Given the description of an element on the screen output the (x, y) to click on. 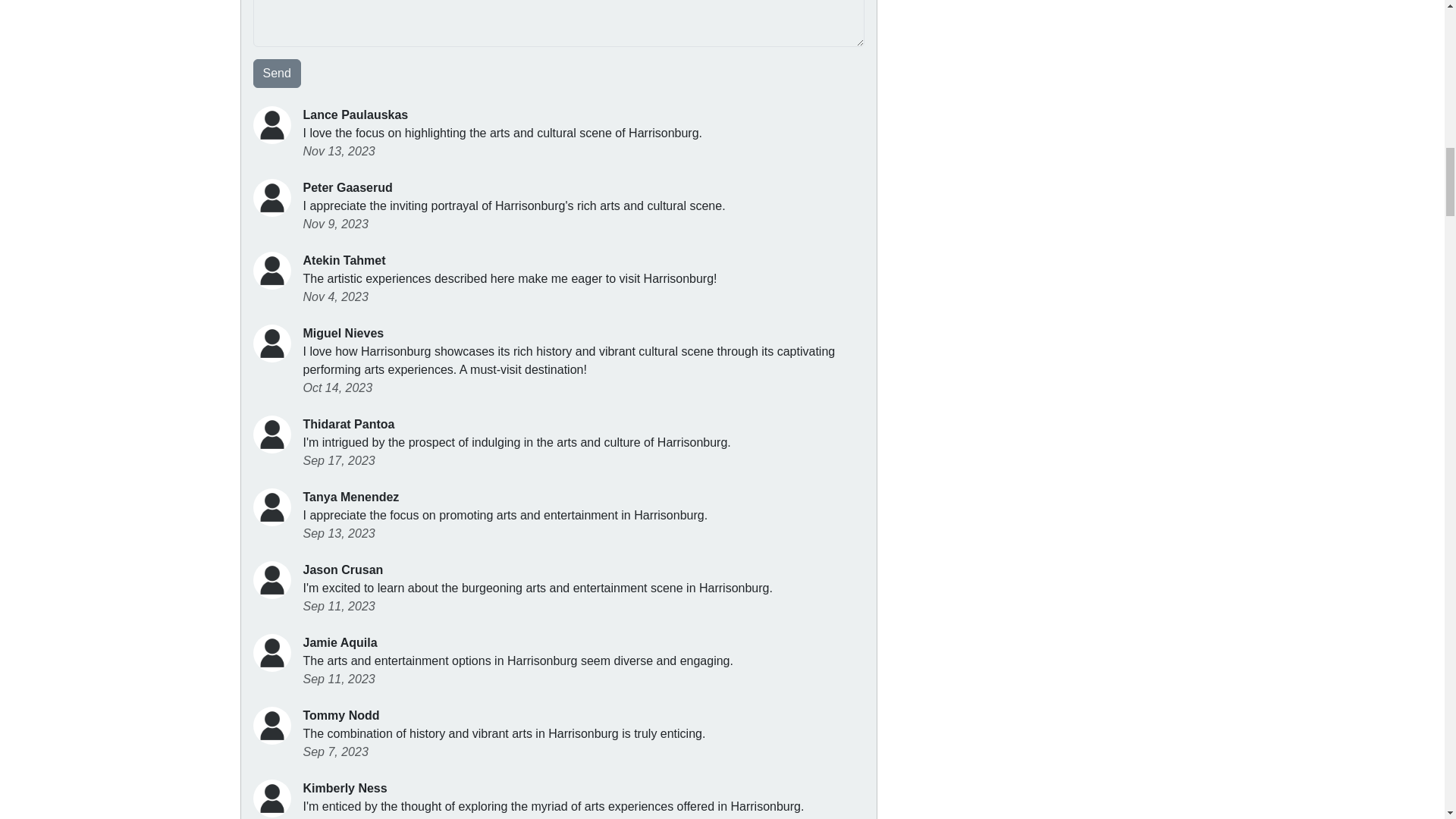
Send (277, 72)
Send (277, 72)
